Given the description of an element on the screen output the (x, y) to click on. 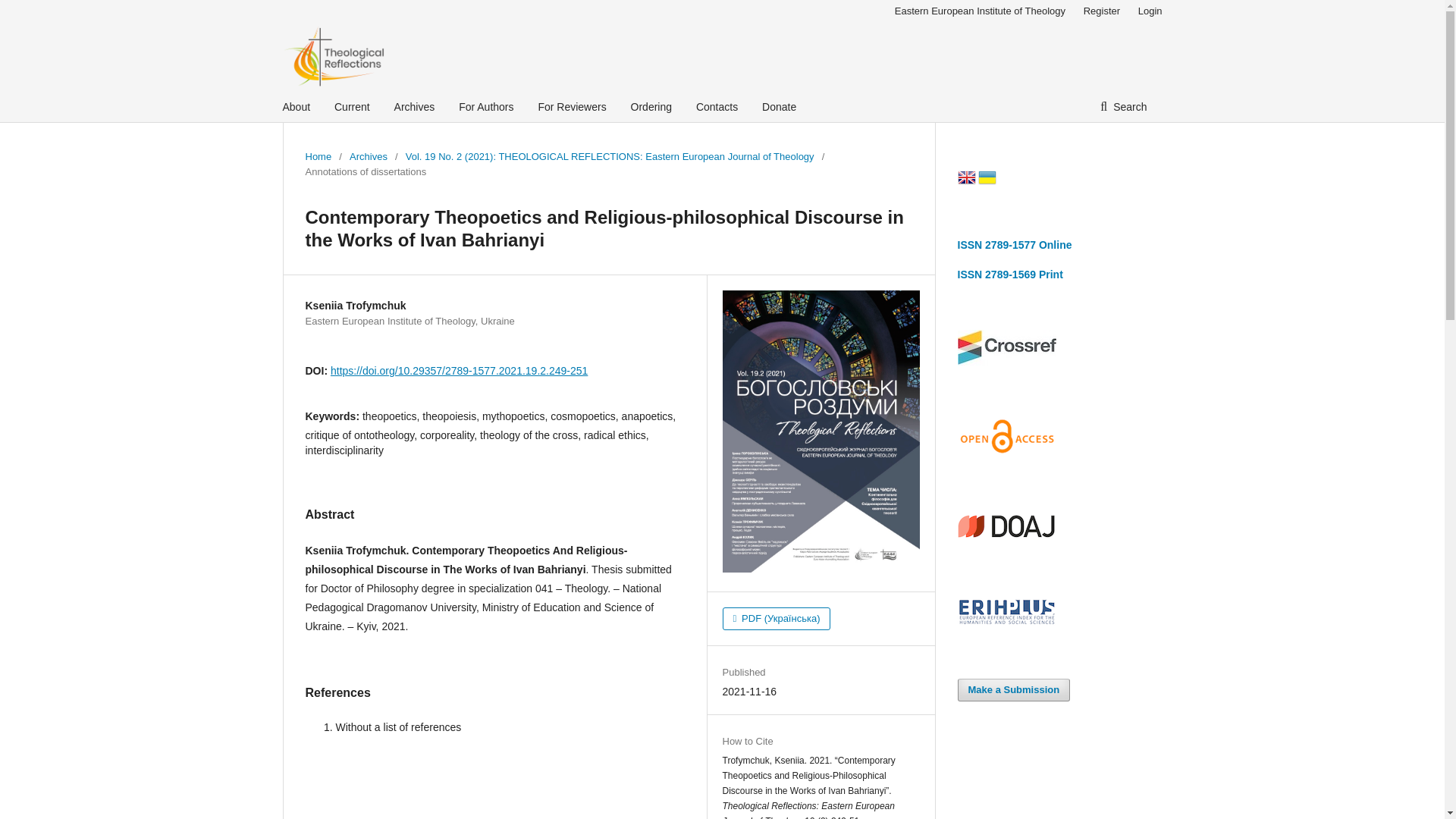
For Authors (485, 106)
Ordering (650, 106)
Search (1122, 106)
Home (317, 156)
About (296, 106)
English (965, 177)
Current (351, 106)
Archives (414, 106)
Register (1100, 11)
Donate (778, 106)
